Given the description of an element on the screen output the (x, y) to click on. 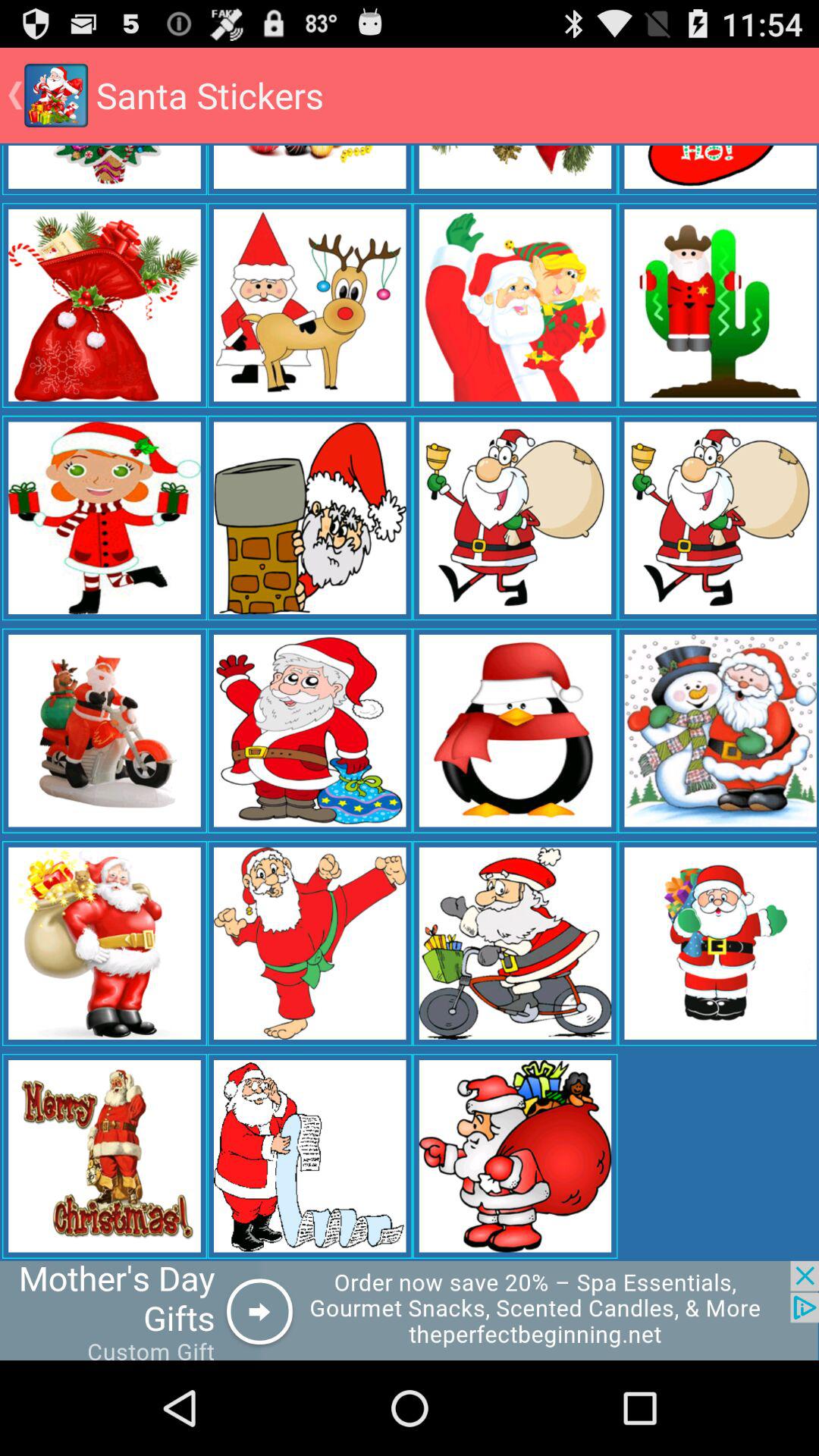
advertisement link (409, 1310)
